Given the description of an element on the screen output the (x, y) to click on. 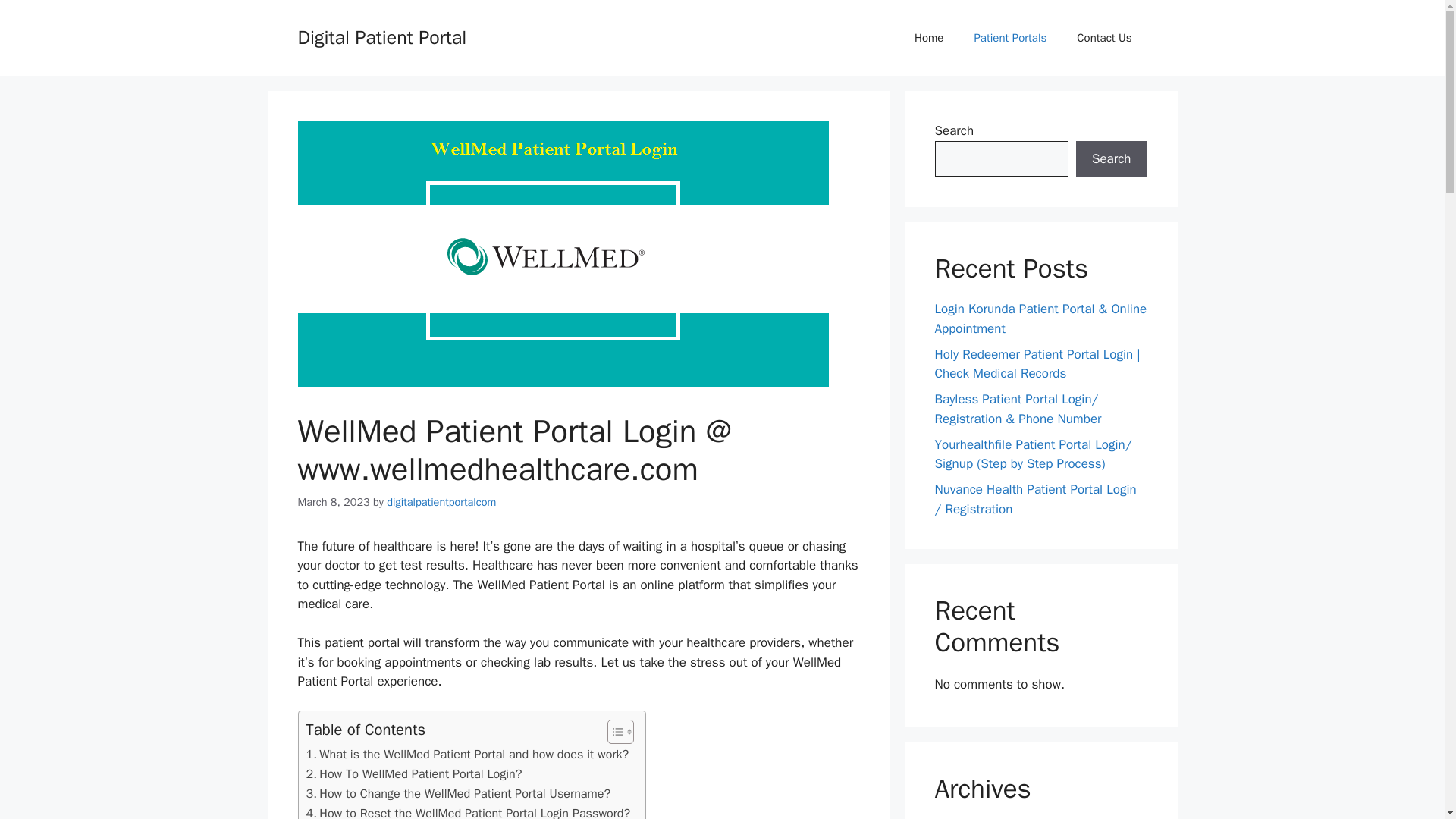
How to Change the WellMed Patient Portal Username? (458, 793)
How to Change the WellMed Patient Portal Username? (458, 793)
What is the WellMed Patient Portal and how does it work? (466, 754)
What is the WellMed Patient Portal and how does it work? (466, 754)
Search (1111, 158)
How to Reset the WellMed Patient Portal Login Password? (467, 811)
How to Reset the WellMed Patient Portal Login Password? (467, 811)
How To WellMed Patient Portal Login? (413, 773)
digitalpatientportalcom (441, 501)
How To WellMed Patient Portal Login? (413, 773)
Digital Patient Portal (381, 37)
Home (928, 37)
Patient Portals (1009, 37)
Contact Us (1104, 37)
View all posts by digitalpatientportalcom (441, 501)
